Given the description of an element on the screen output the (x, y) to click on. 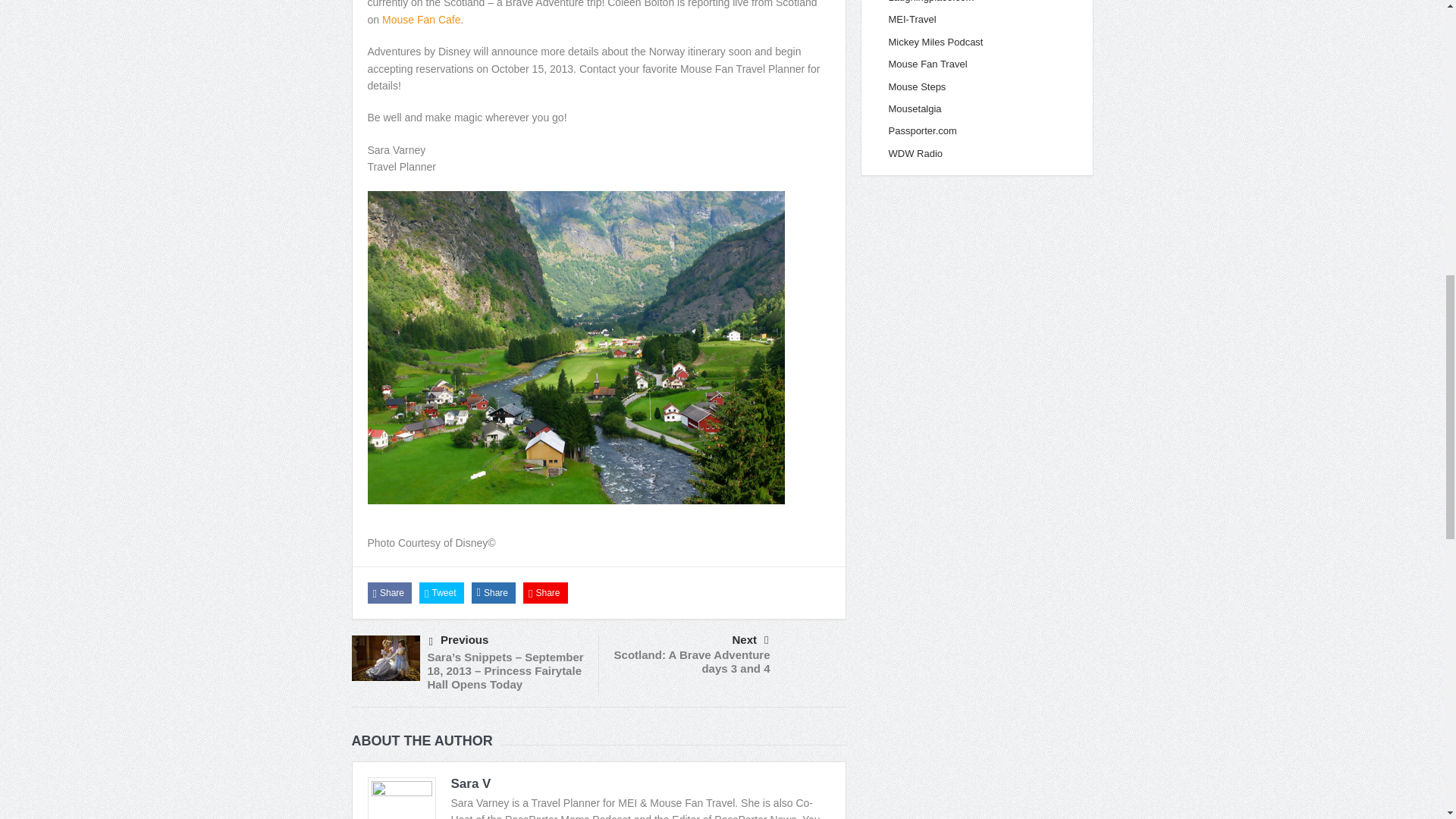
Sara V (469, 783)
Previous (508, 640)
Mouse Fan Cafe (421, 19)
Scotland: A Brave Adventure days 3 and 4 (692, 661)
Next (690, 639)
